Given the description of an element on the screen output the (x, y) to click on. 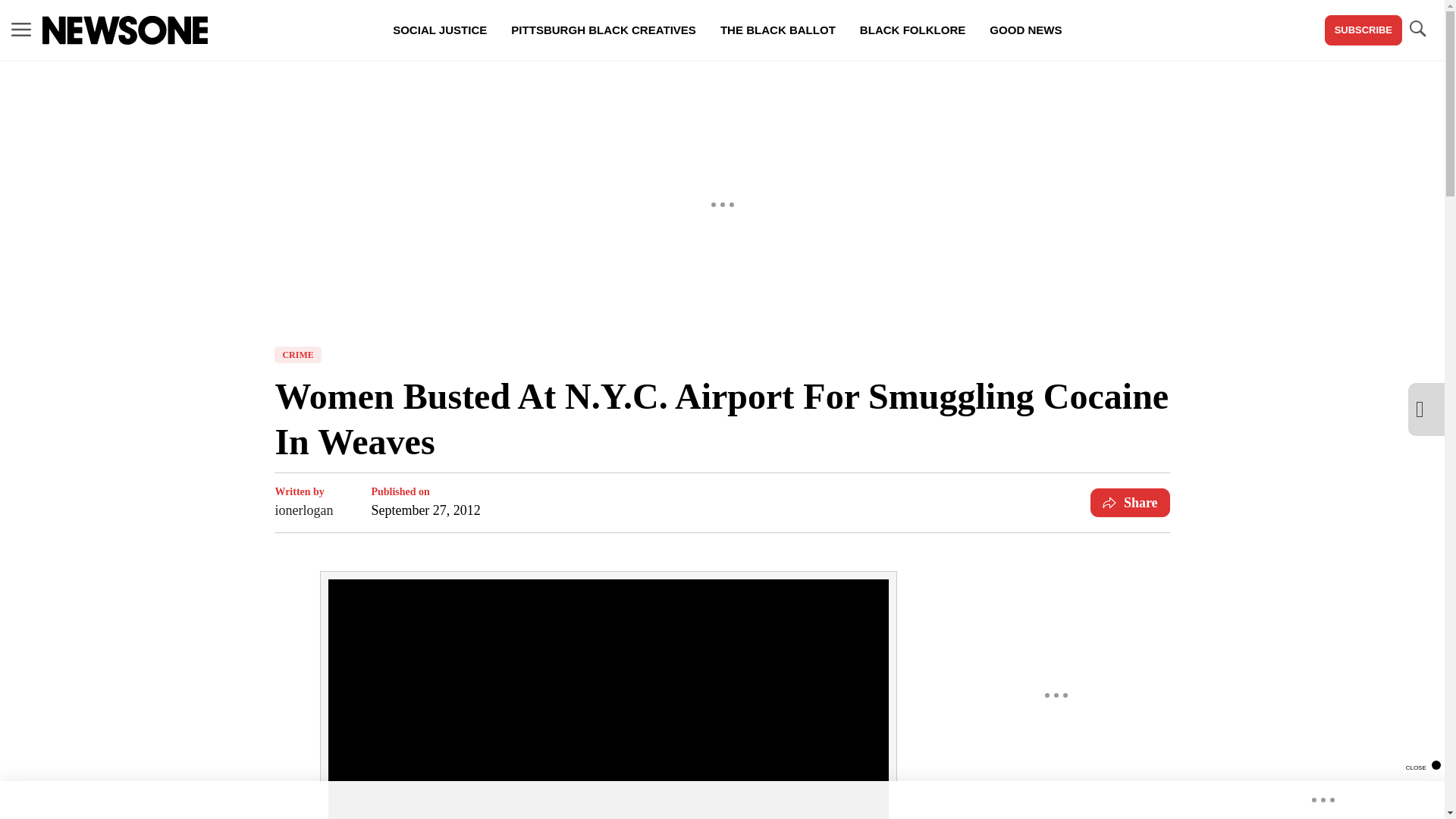
SUBSCRIBE (1363, 30)
CRIME (297, 354)
Share (1130, 502)
SOCIAL JUSTICE (439, 30)
GOOD NEWS (1025, 30)
ionerlogan (304, 509)
PITTSBURGH BLACK CREATIVES (603, 30)
TOGGLE SEARCH (1417, 28)
THE BLACK BALLOT (777, 30)
BLACK FOLKLORE (911, 30)
MENU (20, 29)
MENU (20, 30)
TOGGLE SEARCH (1417, 30)
